Given the description of an element on the screen output the (x, y) to click on. 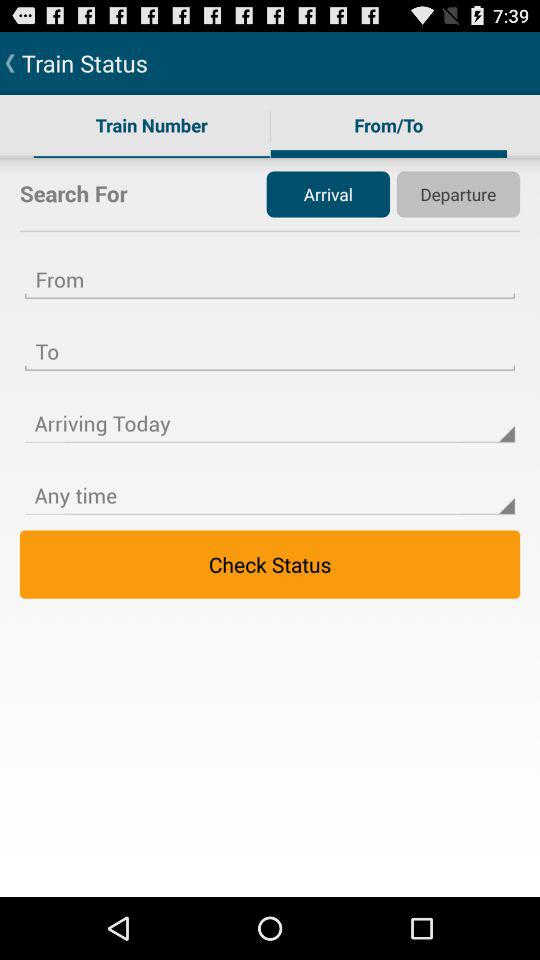
address page (269, 339)
